Given the description of an element on the screen output the (x, y) to click on. 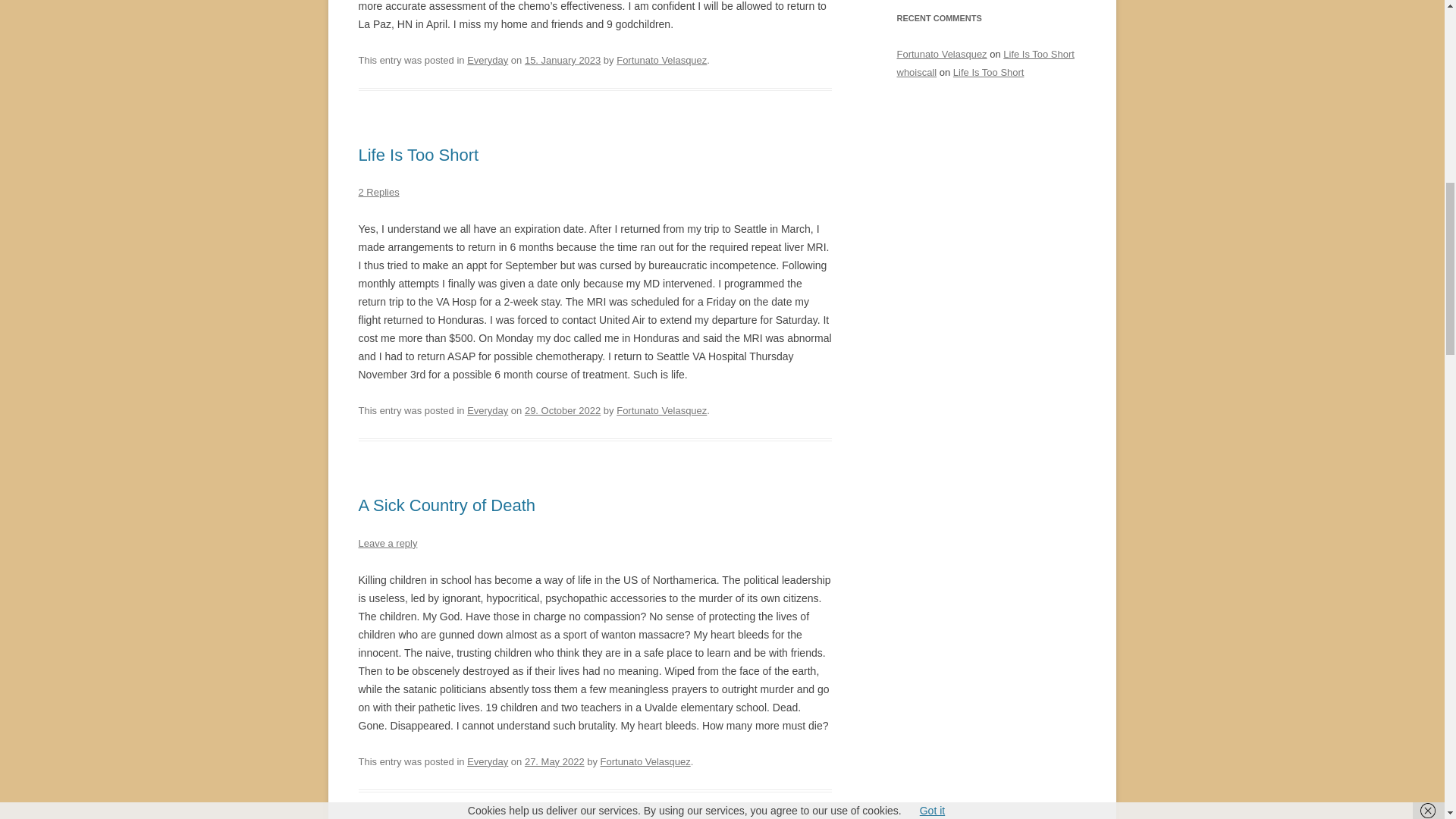
A Sick Country of Death (446, 505)
Everyday (487, 761)
3:49 PM (554, 761)
29. October 2022 (561, 410)
2 Replies (378, 192)
View all posts by Fortunato Velasquez (644, 761)
View all posts by Fortunato Velasquez (660, 410)
Everyday (487, 60)
27. May 2022 (554, 761)
Everyday (487, 410)
